Given the description of an element on the screen output the (x, y) to click on. 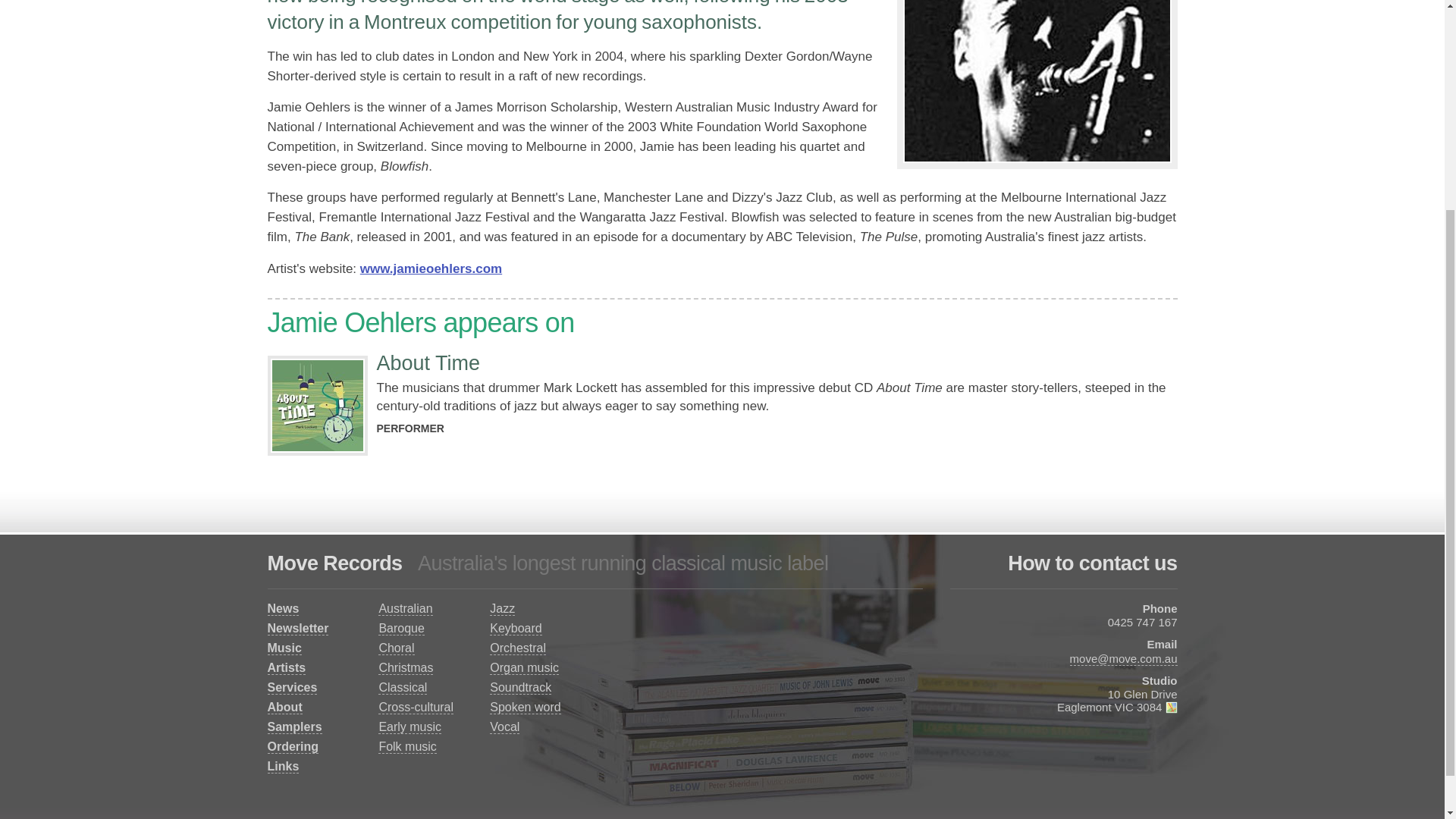
Soundtrack (520, 687)
Artists (285, 667)
Choral (395, 648)
Samplers (293, 726)
About Time (427, 363)
Spoken word (524, 707)
Classical (402, 687)
Christmas (405, 667)
Music (283, 648)
Australian (405, 608)
Vocal (504, 726)
Early music (409, 726)
Cross-cultural (415, 707)
Newsletter (297, 628)
Links (282, 766)
